Given the description of an element on the screen output the (x, y) to click on. 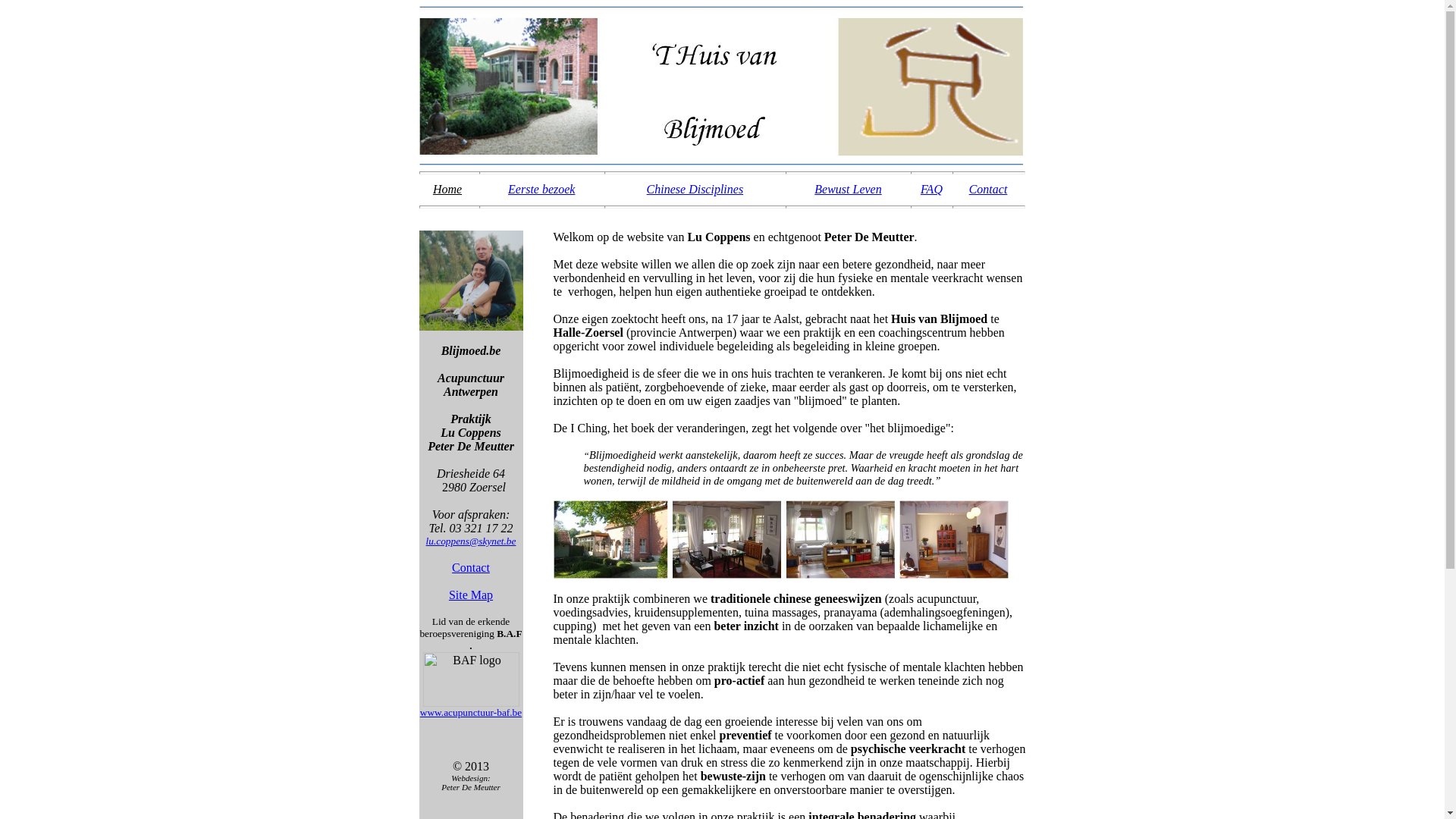
Contact Element type: text (470, 567)
www.acupunctuur-baf.be Element type: text (470, 711)
FAQ Element type: text (931, 188)
lu.coppens@skynet.be Element type: text (471, 539)
Chinese Disciplines Element type: text (694, 188)
Home Element type: text (447, 188)
Eerste bezoek Element type: text (541, 188)
Site Map Element type: text (470, 594)
Contact Element type: text (988, 188)
Bewust Leven Element type: text (847, 188)
